Given the description of an element on the screen output the (x, y) to click on. 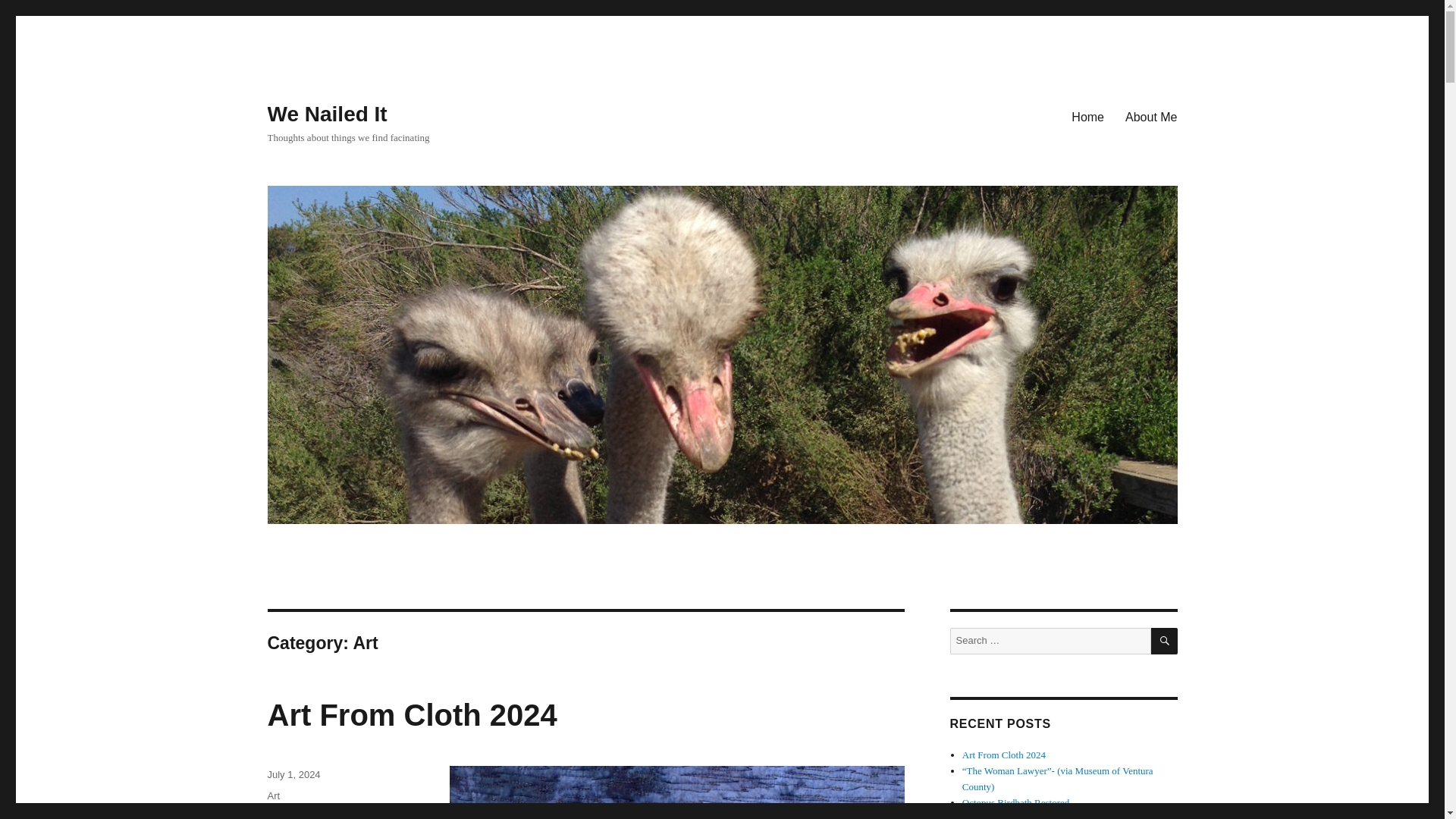
Art (272, 795)
Home (1088, 116)
About Me (1151, 116)
Art From Cloth 2024 (305, 815)
We Nailed It (411, 715)
July 1, 2024 (326, 114)
